Given the description of an element on the screen output the (x, y) to click on. 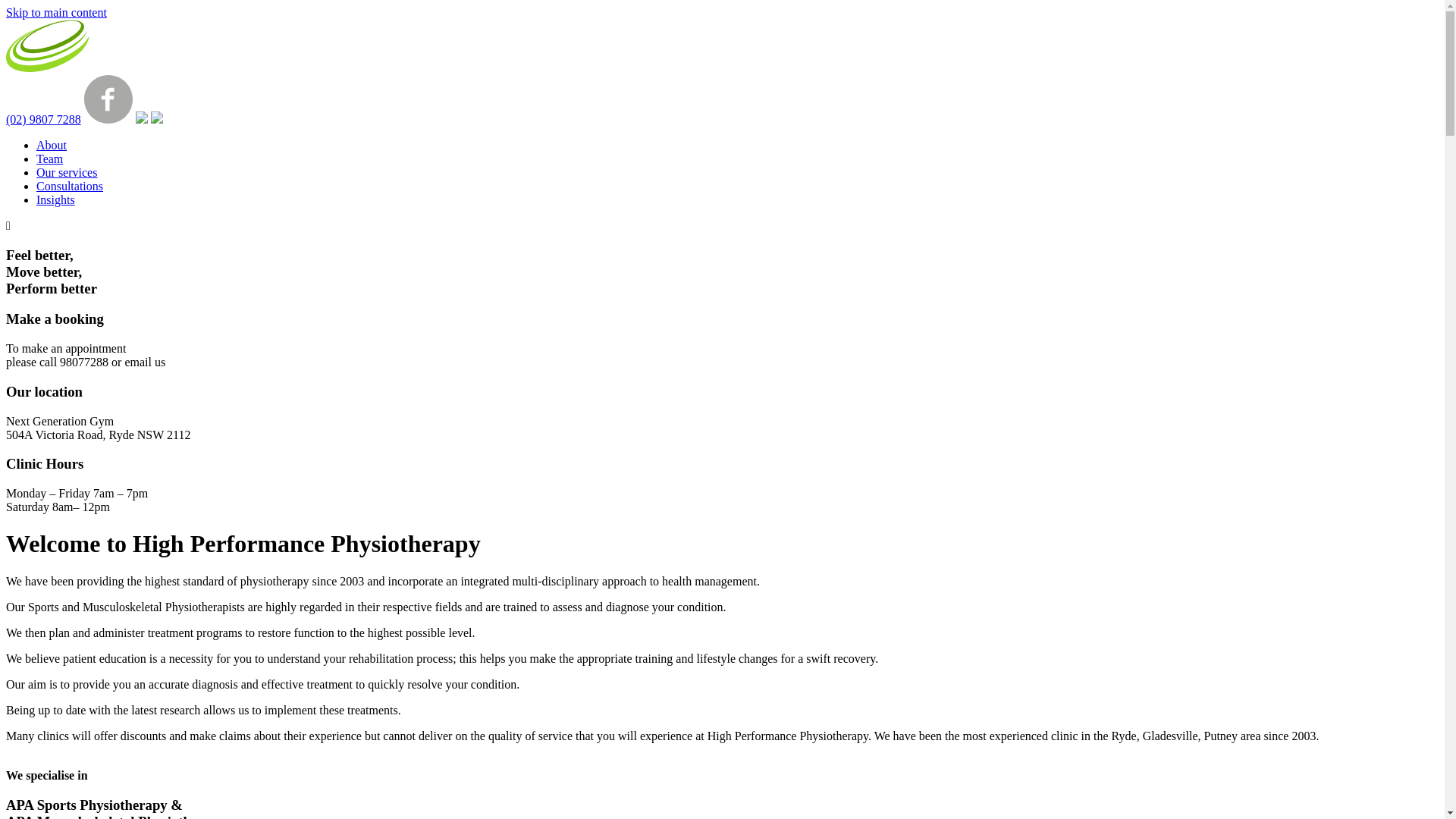
Our services Element type: text (66, 172)
Skip to main content Element type: text (56, 12)
(02) 9807 7288 Element type: text (43, 118)
Insights Element type: text (55, 199)
Consultations Element type: text (69, 185)
Team Element type: text (49, 158)
About Element type: text (51, 144)
